Given the description of an element on the screen output the (x, y) to click on. 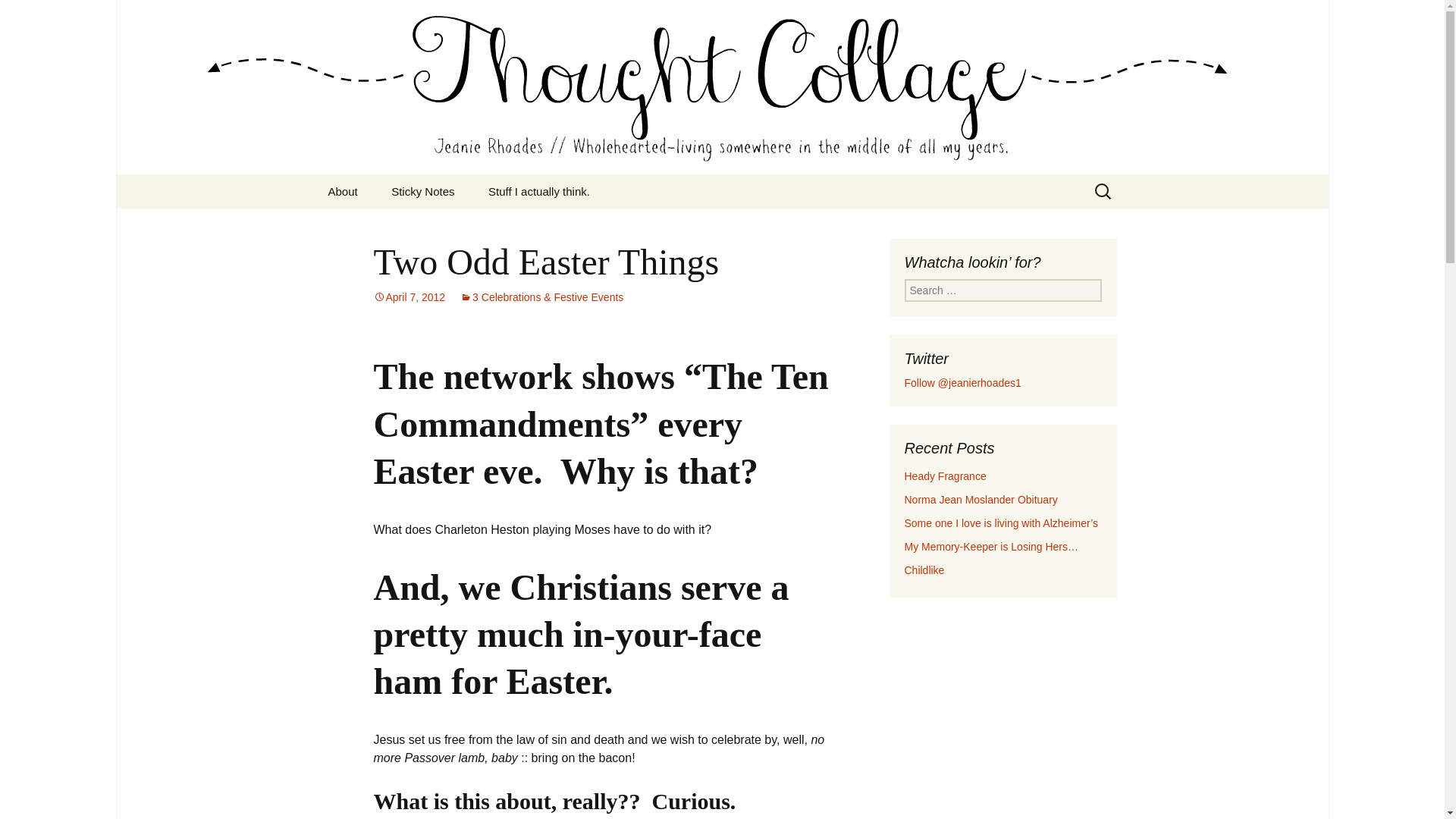
Stuff I actually think. (539, 191)
Search (34, 15)
Search (18, 15)
About (342, 191)
Sticky Notes (421, 191)
Heady Fragrance (944, 476)
April 7, 2012 (408, 297)
Permalink to Two Odd Easter Things (408, 297)
Norma Jean Moslander Obituary (980, 499)
Childlike (923, 570)
